Given the description of an element on the screen output the (x, y) to click on. 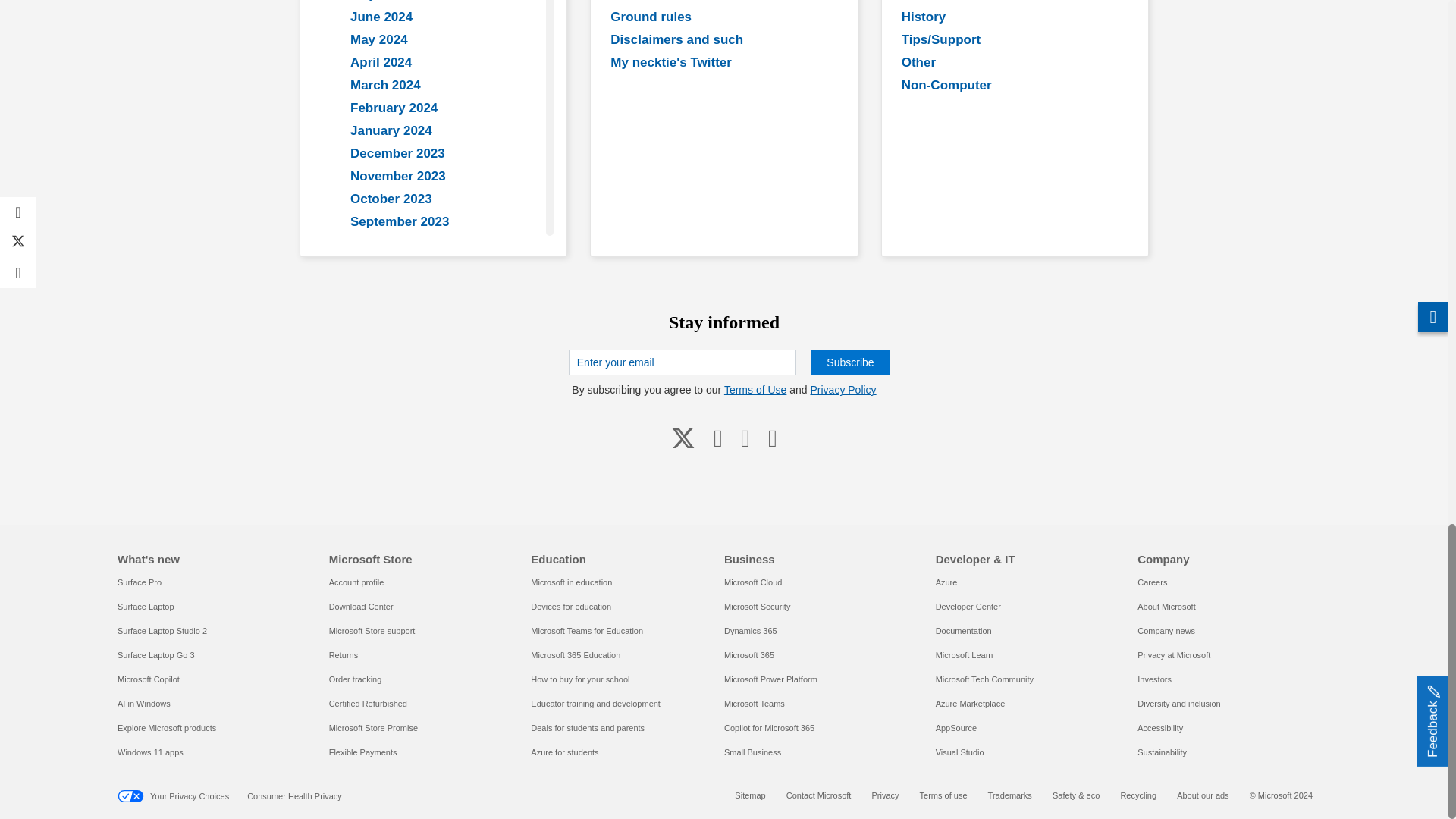
Subscribe (849, 362)
RSS Feed (772, 437)
twitter (683, 437)
GitHub (745, 437)
youtube (718, 437)
